Given the description of an element on the screen output the (x, y) to click on. 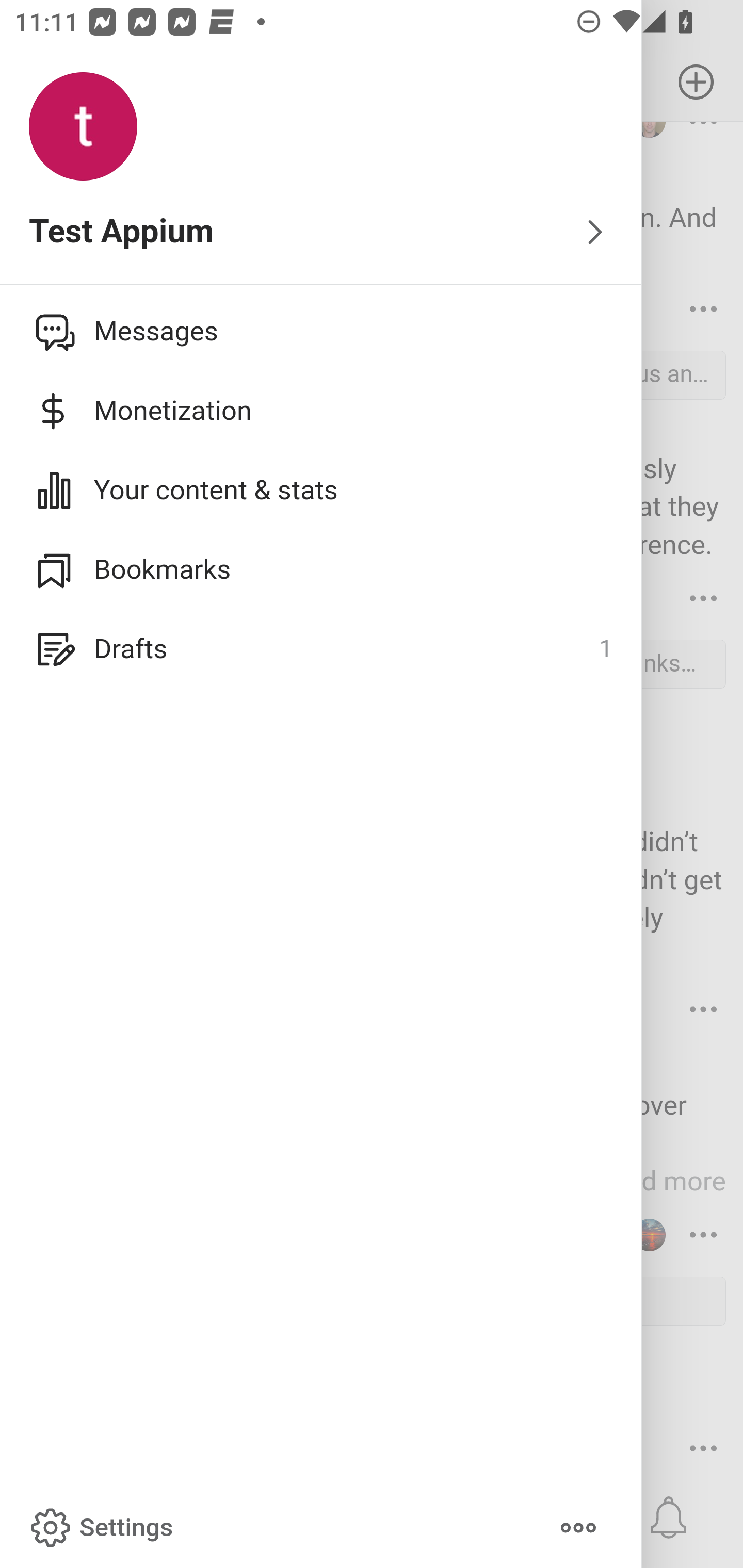
Profile photo for Test Appium (82, 126)
Test Appium (321, 232)
Messages (321, 330)
Monetization (321, 410)
Your content & stats (321, 489)
Bookmarks (321, 568)
Drafts 1 Drafts 1 (321, 648)
1 (605, 648)
Settings (99, 1527)
More (578, 1527)
